Given the description of an element on the screen output the (x, y) to click on. 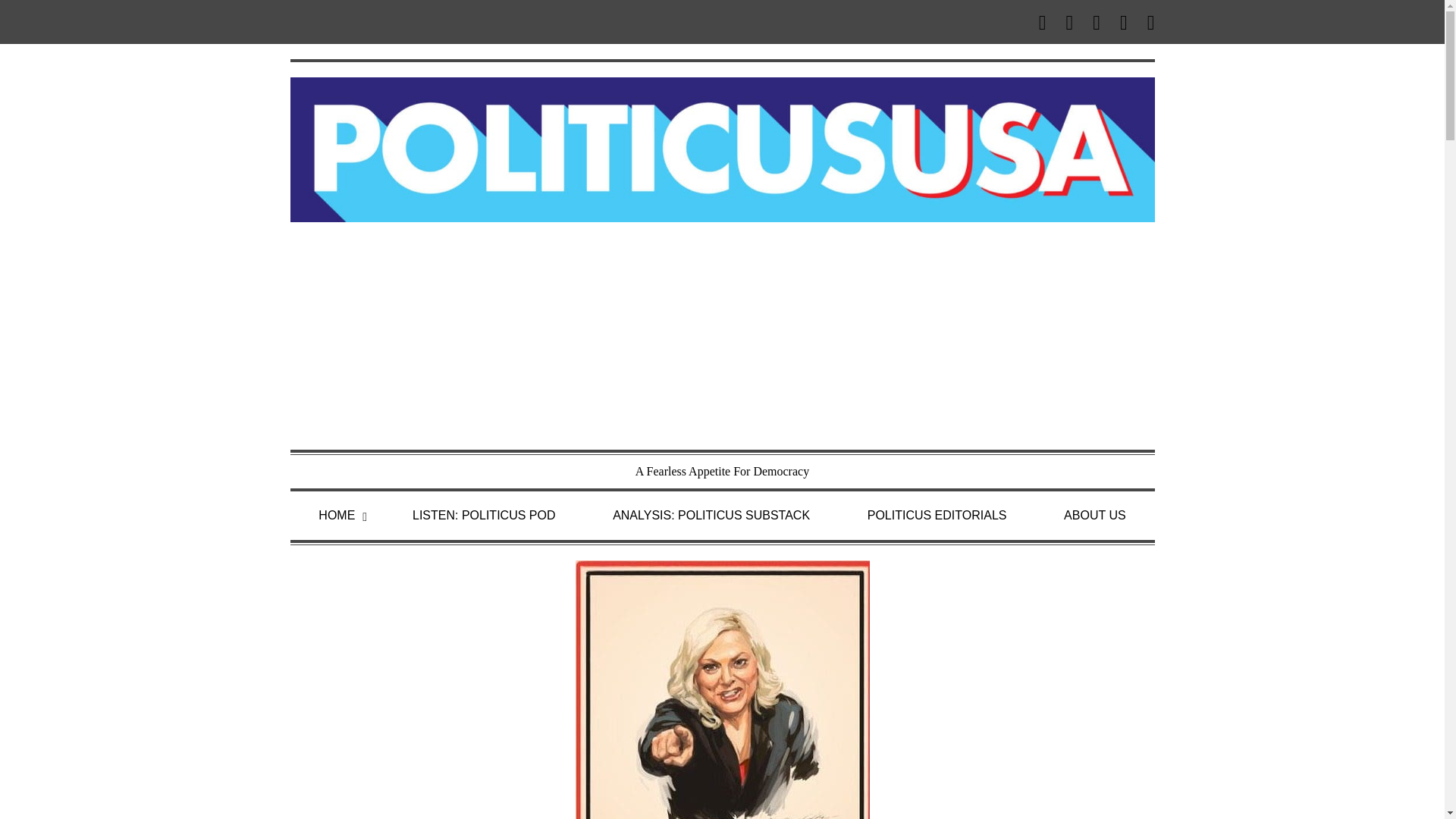
ABOUT US (1094, 515)
ANALYSIS: POLITICUS SUBSTACK (710, 515)
Follow us on Facebook (1069, 22)
LISTEN: POLITICUS POD (483, 515)
POLITICUS EDITORIALS (936, 515)
HOME (335, 515)
Follow us on Twitter (1096, 22)
Follow us on YouTube (1146, 22)
Follow us on instagram (1123, 22)
Feed RSS (1042, 22)
Go back to home (721, 148)
